Given the description of an element on the screen output the (x, y) to click on. 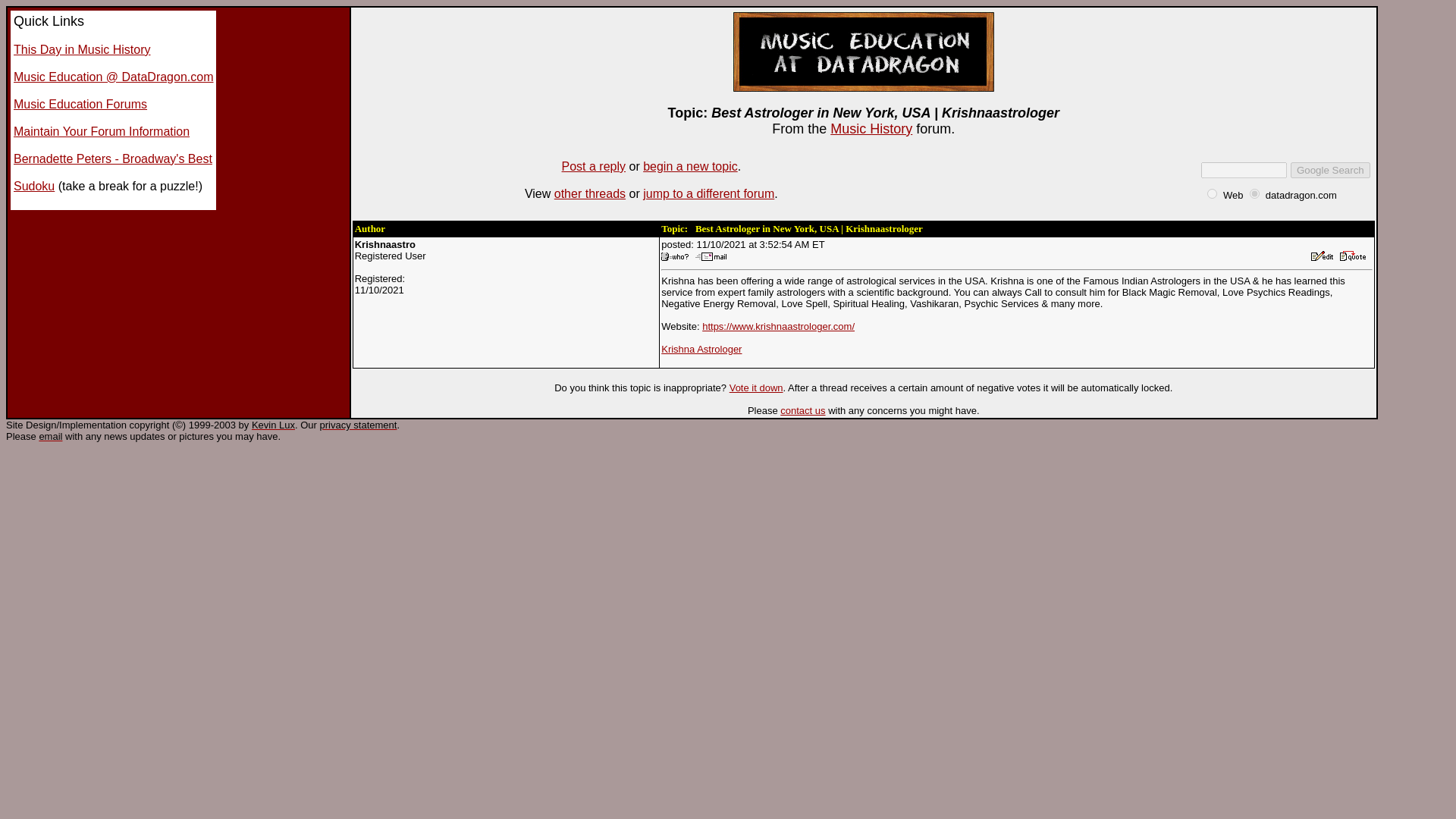
Advertisement (727, 478)
Post a reply (594, 165)
Vote it down (756, 387)
begin a new topic (690, 165)
Google Search (1330, 170)
Maintain Your Forum Information (101, 131)
Search datadragon.com (1300, 194)
Krishna Astrologer (701, 348)
This Day in Music History (81, 49)
Music Education Forums (80, 103)
jump to a different forum (708, 193)
email (50, 436)
Music History (870, 128)
Kevin Lux (273, 424)
contact us (802, 410)
